Given the description of an element on the screen output the (x, y) to click on. 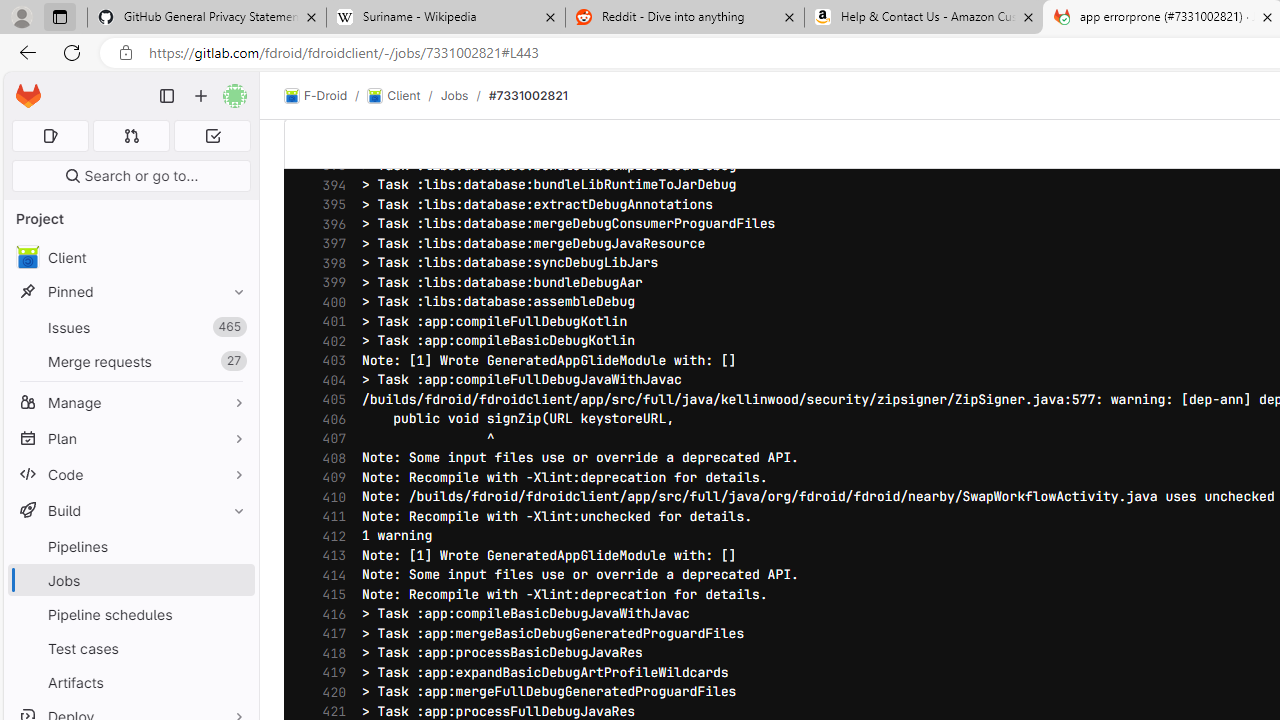
Pipeline schedules (130, 614)
Issues465 (130, 327)
406 (329, 418)
Plan (130, 438)
401 (329, 321)
416 (329, 614)
Pipeline schedules (130, 614)
392 (329, 146)
415 (329, 594)
Pin Pipelines (234, 546)
390 (329, 107)
Code (130, 474)
Merge requests 27 (130, 361)
Merge requests 0 (131, 136)
